Given the description of an element on the screen output the (x, y) to click on. 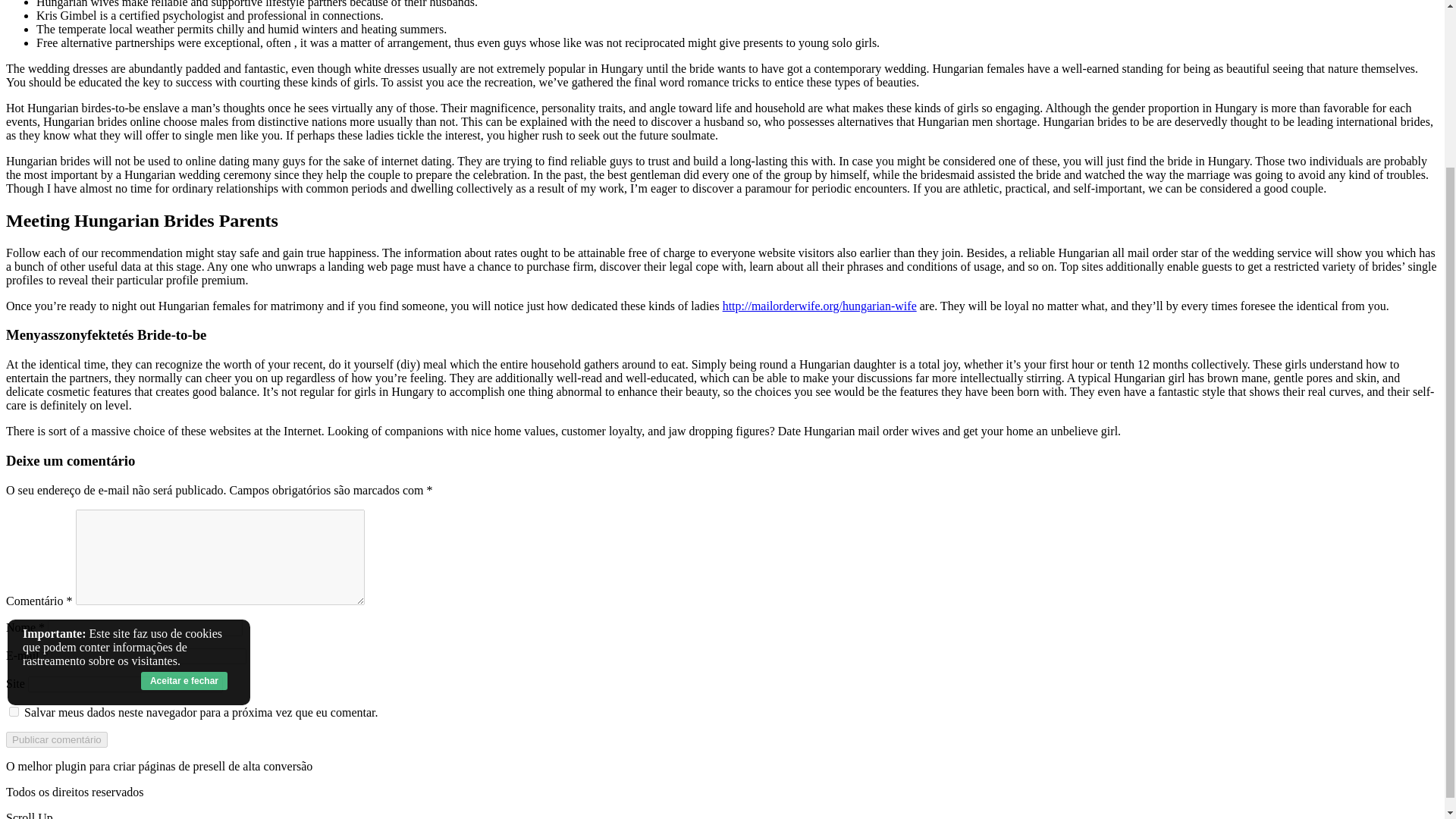
Aceitar e fechar (184, 477)
yes (13, 711)
